Given the description of an element on the screen output the (x, y) to click on. 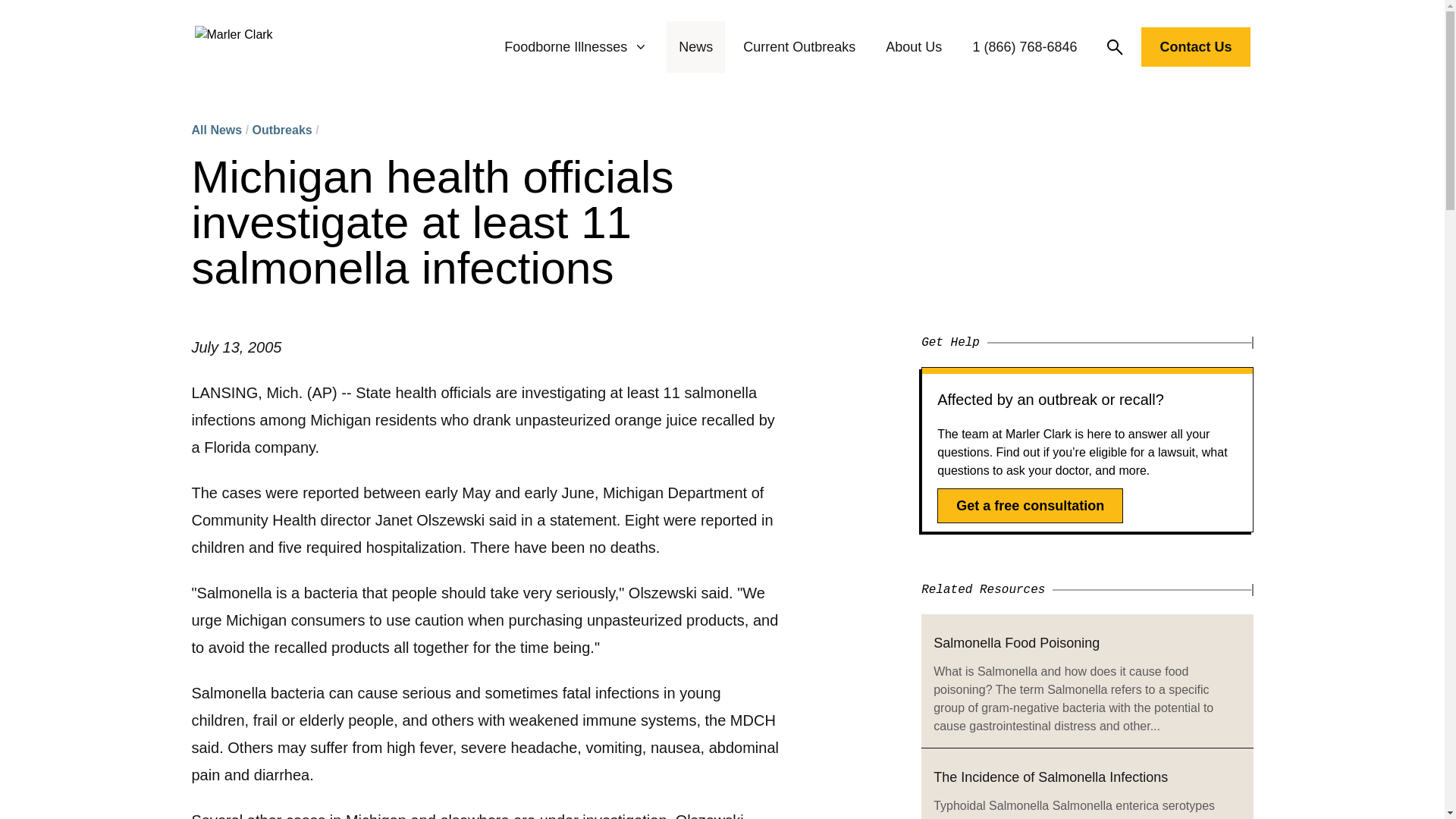
Contact Us (1195, 49)
Current Outbreaks (799, 46)
About Us (913, 46)
Contact Us (1195, 46)
Outbreaks (282, 129)
Marler Clark (232, 46)
News (695, 46)
Foodborne Illnesses (576, 46)
All News (215, 129)
